Given the description of an element on the screen output the (x, y) to click on. 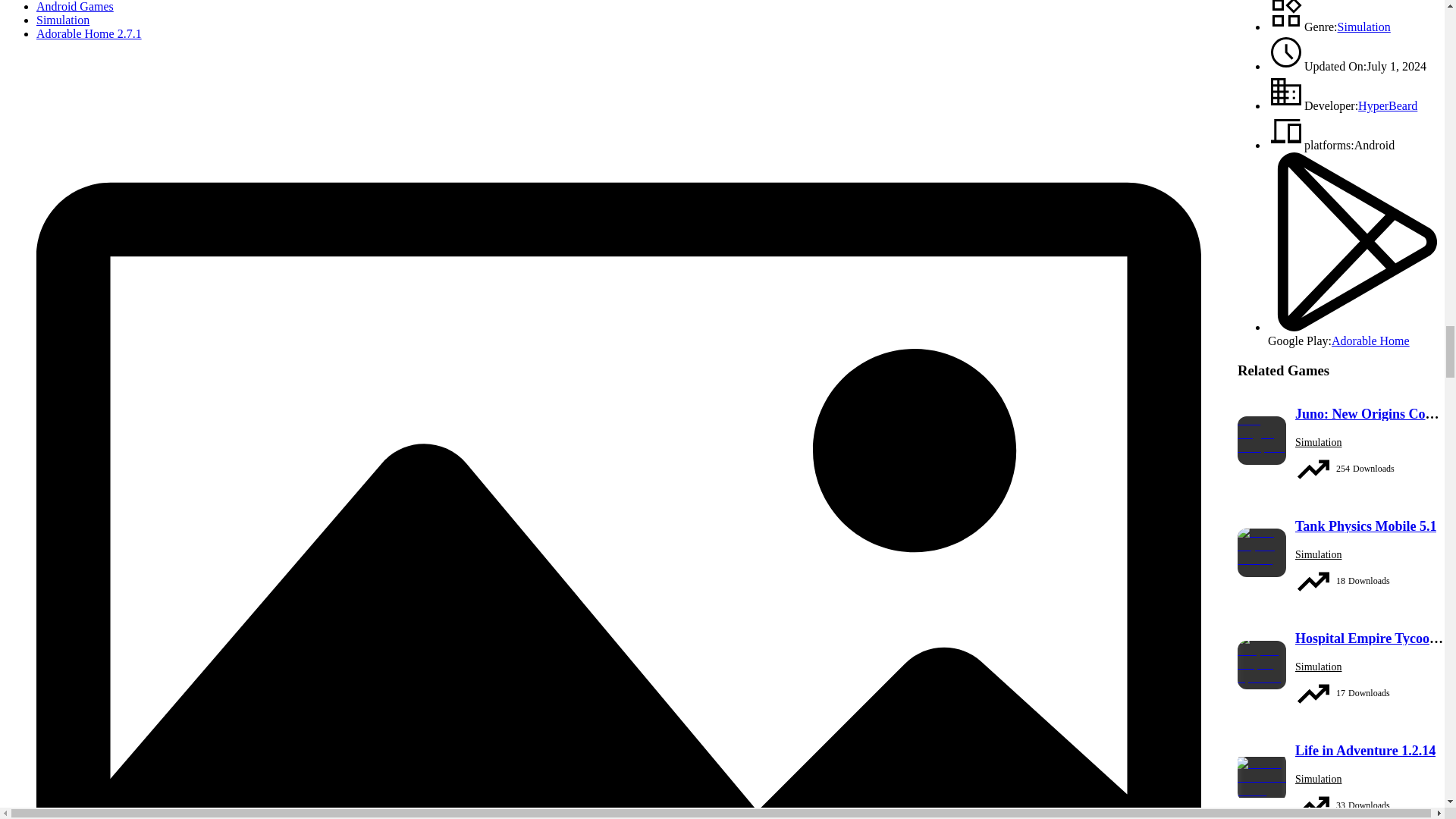
Adorable Home 2.7.1 (88, 33)
Android Games (74, 6)
Life in Adventure 1.2.14 (1365, 750)
HyperBeard (1387, 105)
Simulation (1364, 26)
Tank Physics Mobile 5.1 (1365, 526)
Simulation (62, 19)
